Given the description of an element on the screen output the (x, y) to click on. 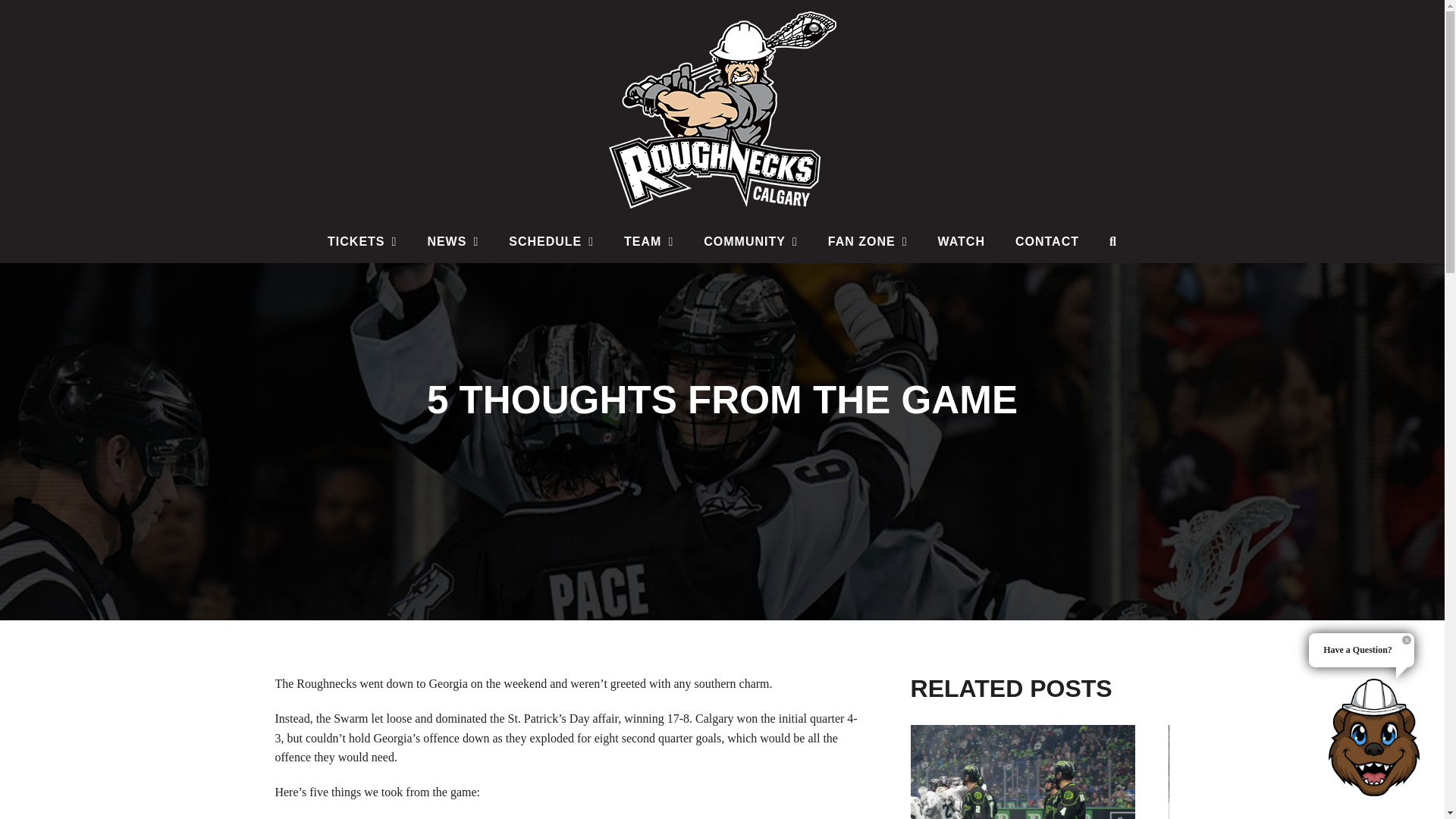
TEAM (648, 241)
COMMUNITY (750, 241)
NEWS (452, 241)
TICKETS (361, 241)
SCHEDULE (551, 241)
